Given the description of an element on the screen output the (x, y) to click on. 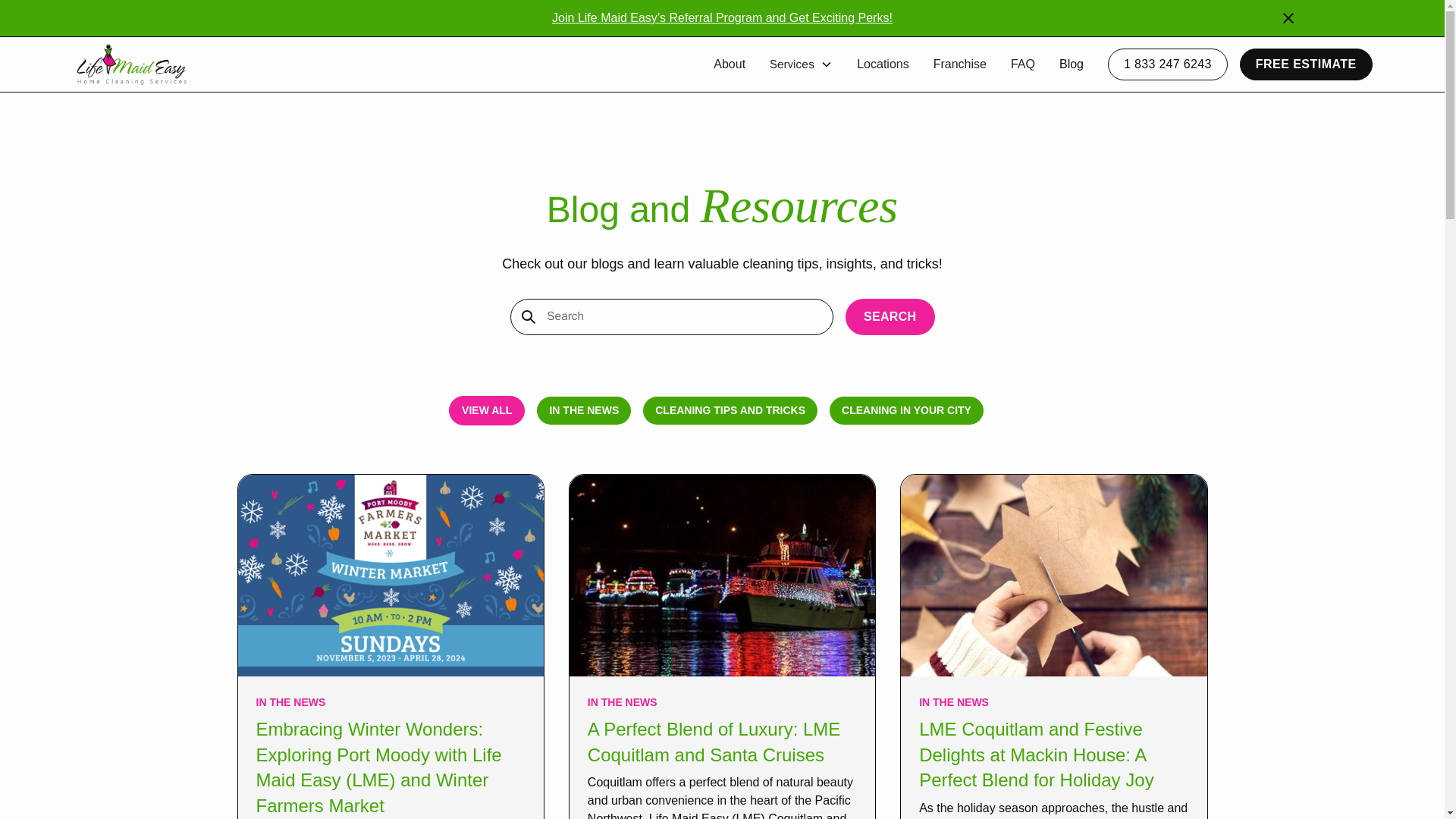
Franchise (959, 64)
VIEW ALL (486, 410)
Search (889, 316)
Blog (1071, 64)
FAQ (1022, 64)
FREE ESTIMATE (1306, 64)
Locations (882, 64)
CLEANING TIPS AND TRICKS (729, 410)
About (729, 64)
IN THE NEWS (583, 410)
Search (889, 316)
CLEANING IN YOUR CITY (906, 410)
1 833 247 6243 (1167, 64)
